Given the description of an element on the screen output the (x, y) to click on. 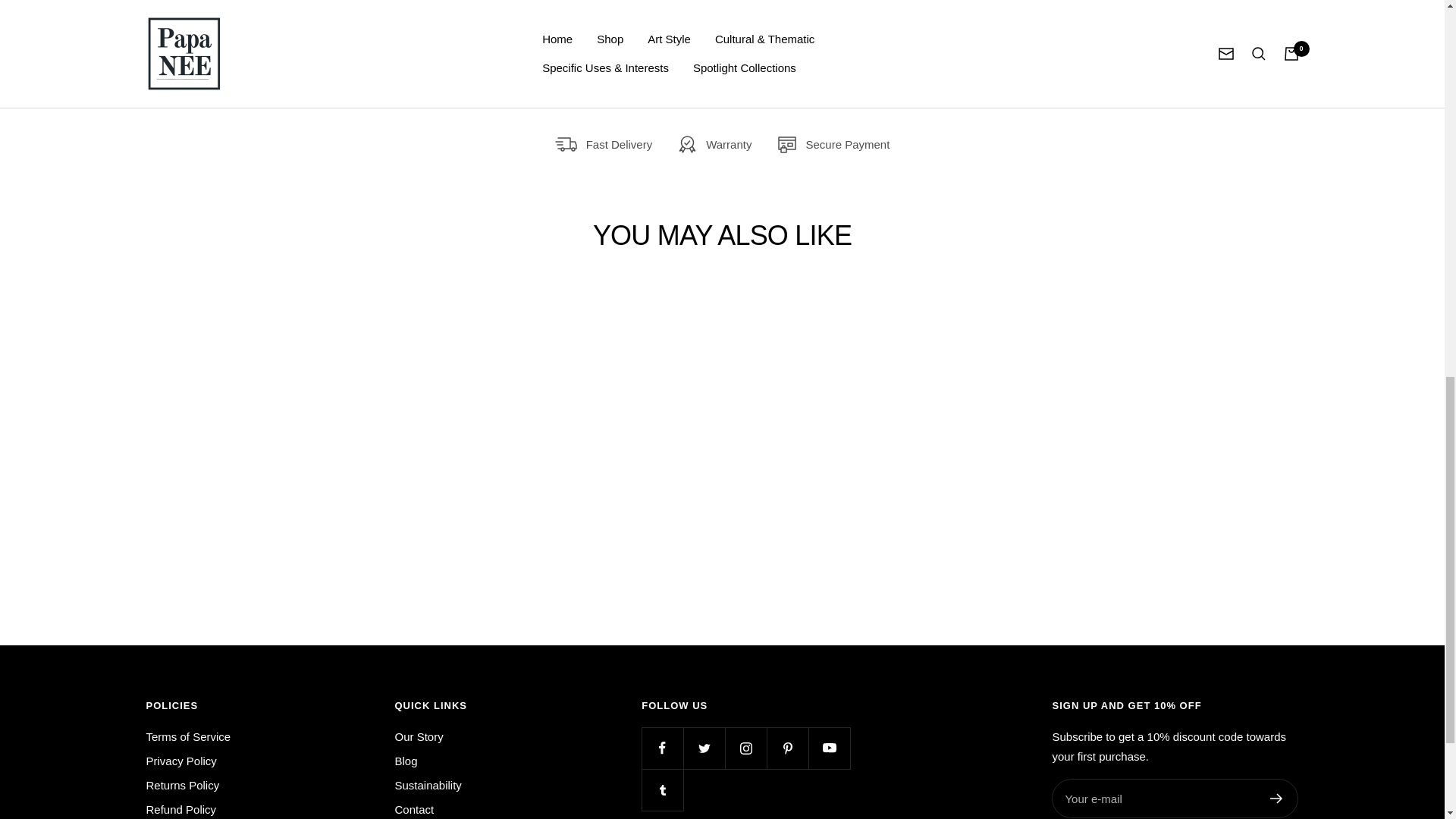
Register (1275, 798)
